Given the description of an element on the screen output the (x, y) to click on. 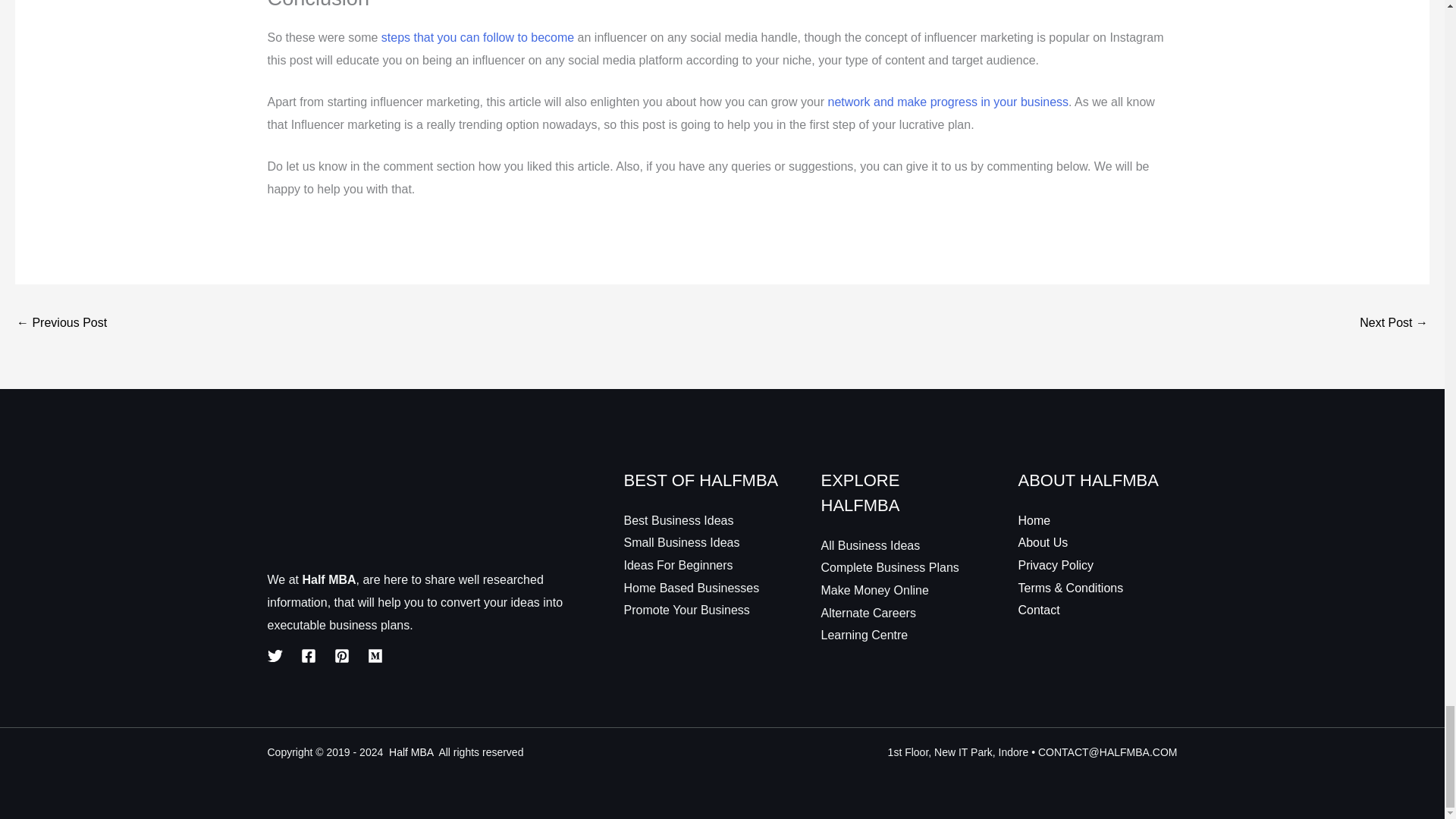
steps that you can follow to become (477, 37)
Rabbit Farming: A Complete Guide for Beginners (1393, 324)
